Given the description of an element on the screen output the (x, y) to click on. 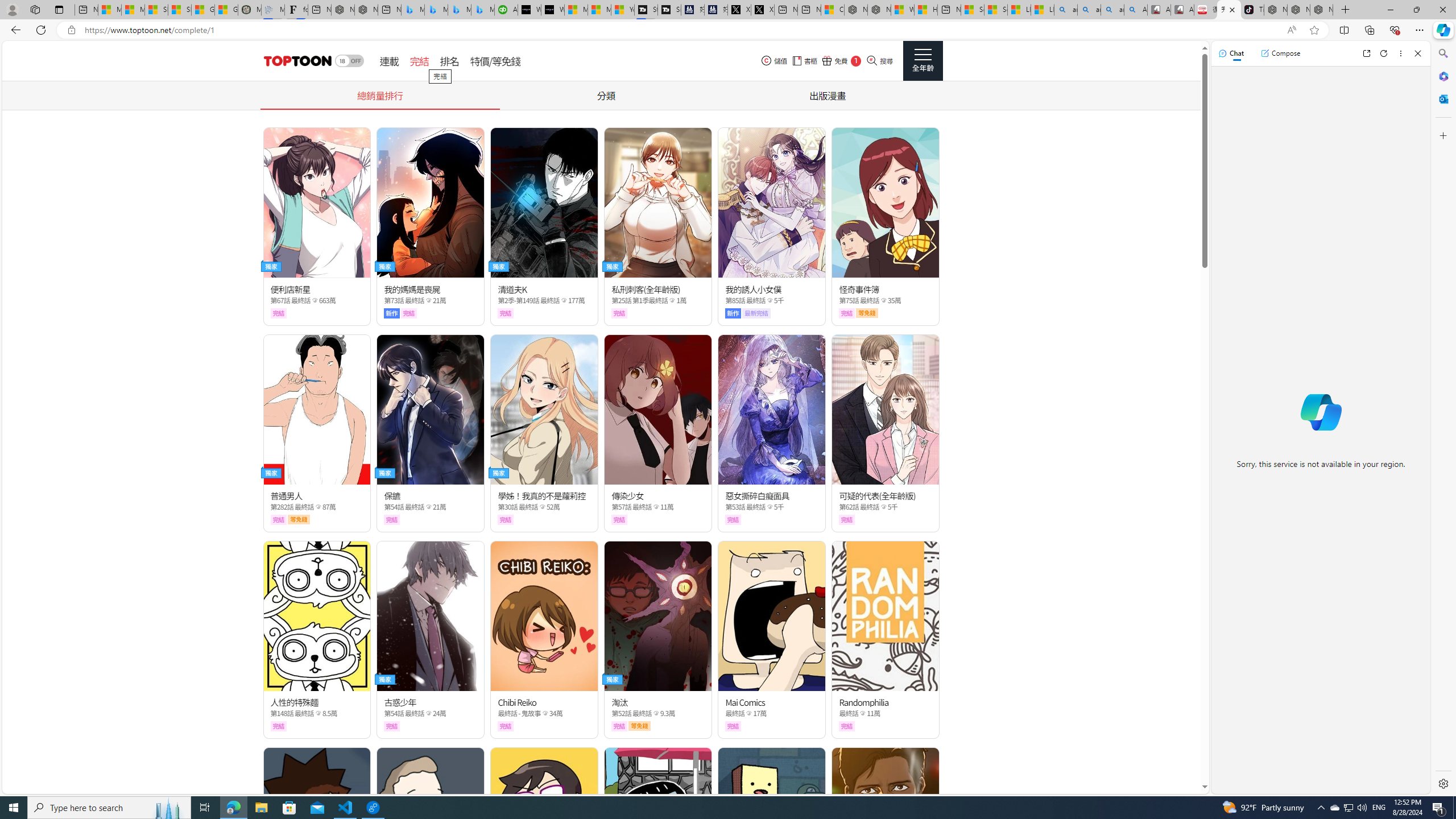
Nordace - Best Sellers (1275, 9)
